Given the description of an element on the screen output the (x, y) to click on. 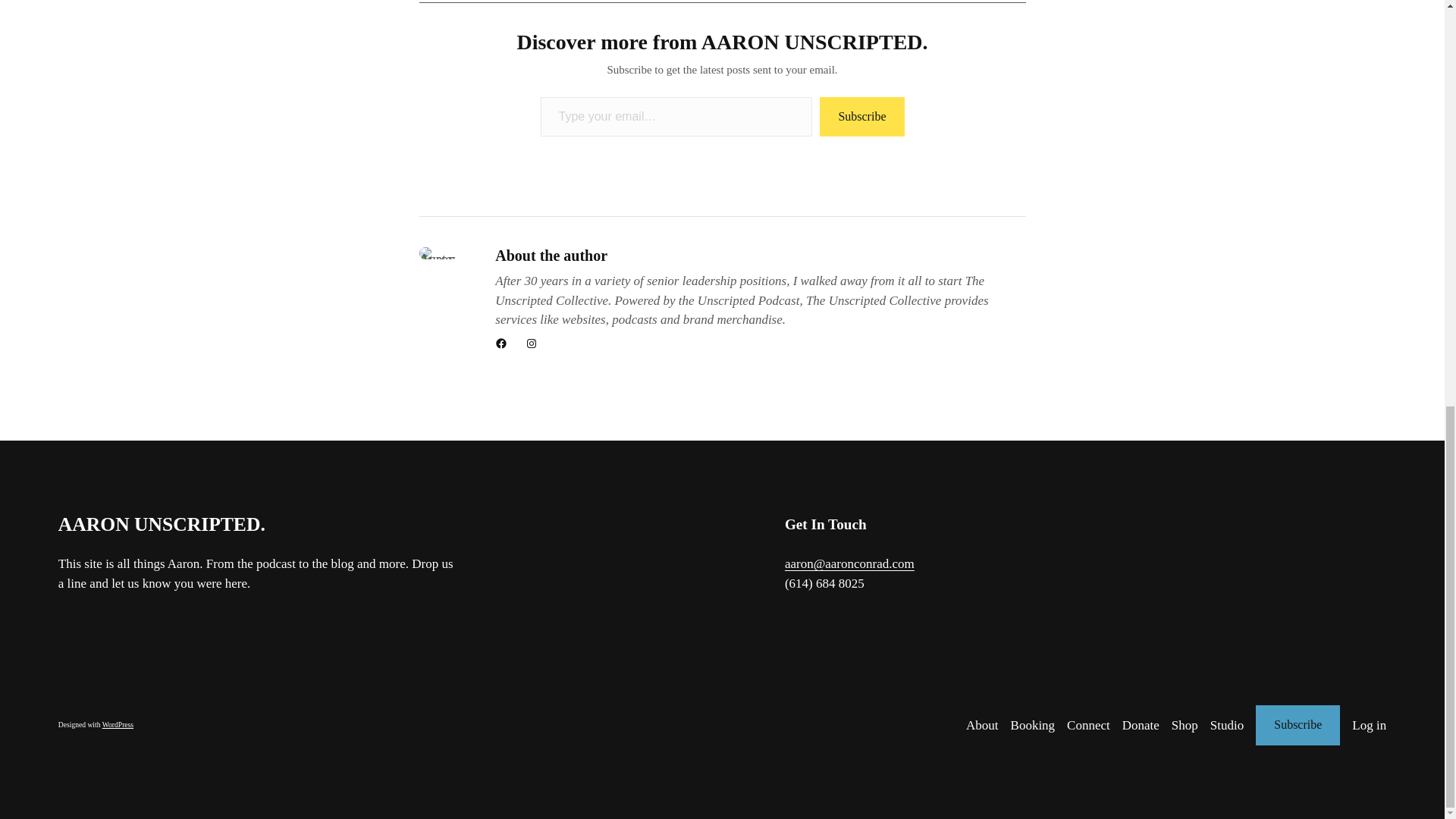
Booking (1032, 725)
Connect (1088, 725)
Shop (1185, 725)
About (982, 725)
AARON UNSCRIPTED. (161, 524)
WordPress (117, 724)
Subscribe (861, 117)
Donate (1140, 725)
Please fill in this field. (676, 117)
